Given the description of an element on the screen output the (x, y) to click on. 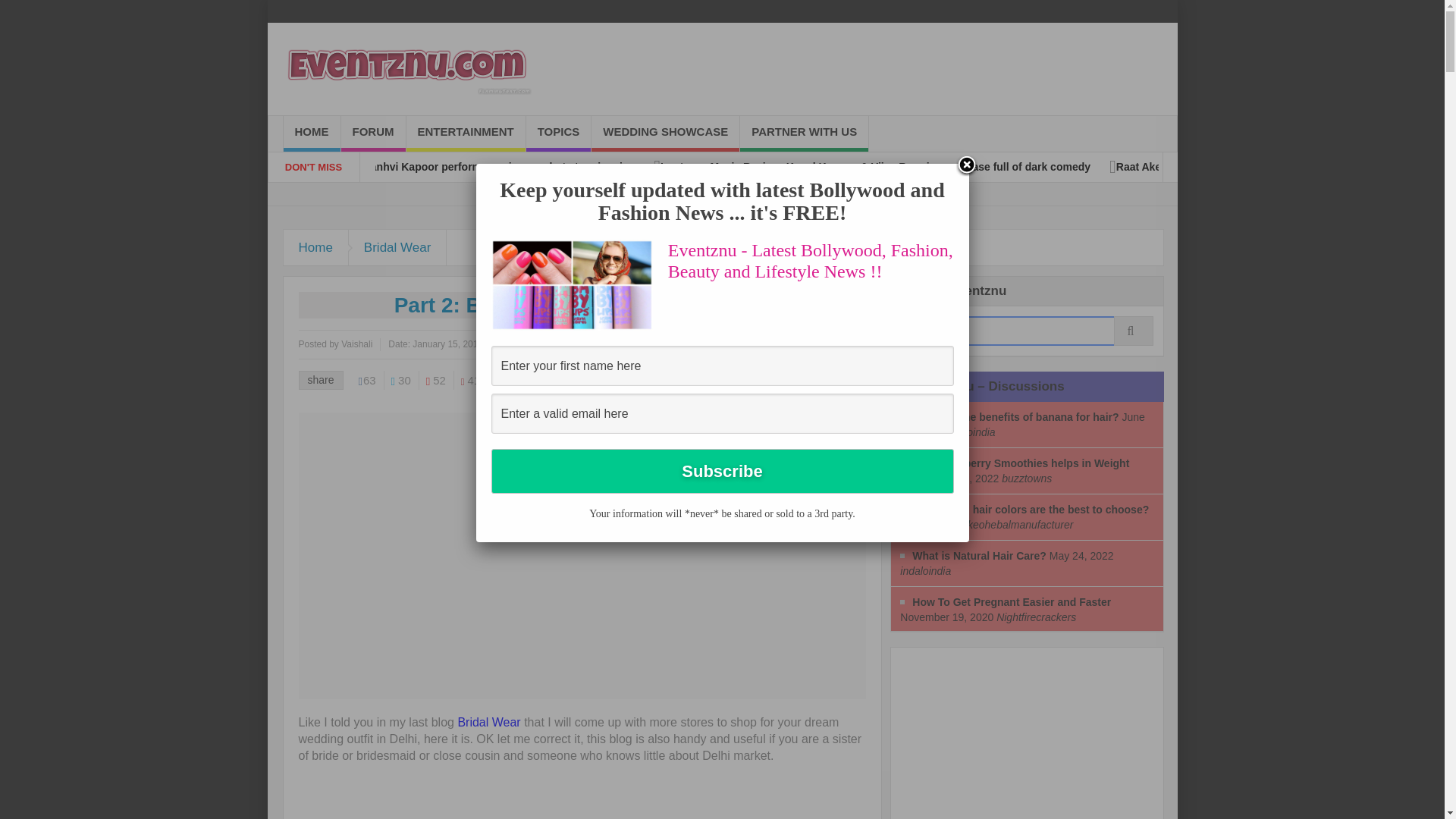
Home (316, 247)
Search (1027, 330)
FORUM (373, 133)
Advertisement (425, 799)
PARTNER WITH US (803, 133)
Vaishali (356, 344)
Search (1027, 330)
Search for: (1027, 330)
Eventznu.com (406, 69)
Subscribe (722, 470)
WEDDING SHOWCASE (665, 133)
Close (966, 165)
Advertisement (1014, 738)
Bridal Wear (397, 247)
TOPICS (558, 133)
